Given the description of an element on the screen output the (x, y) to click on. 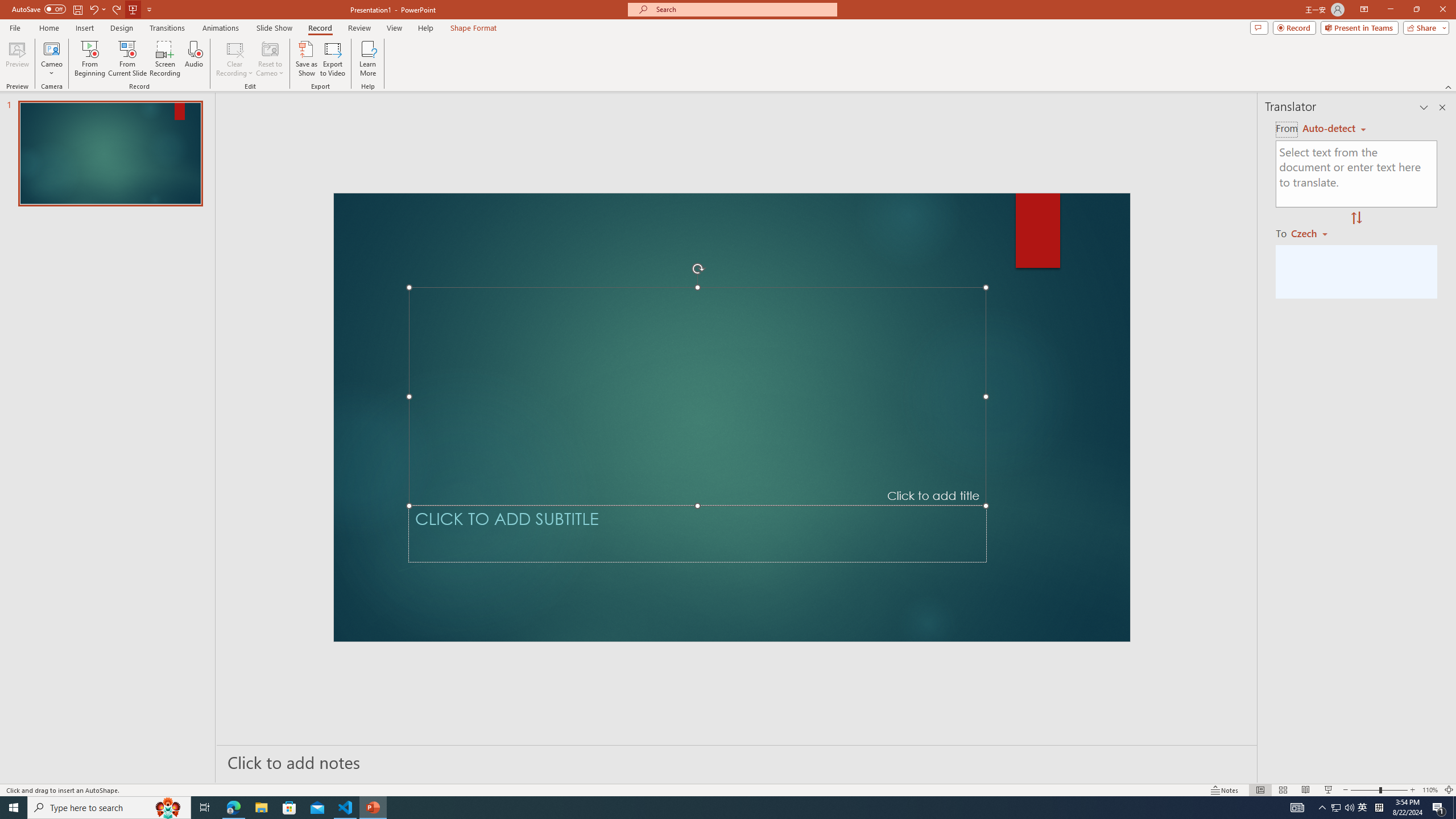
Czech (1313, 232)
